Given the description of an element on the screen output the (x, y) to click on. 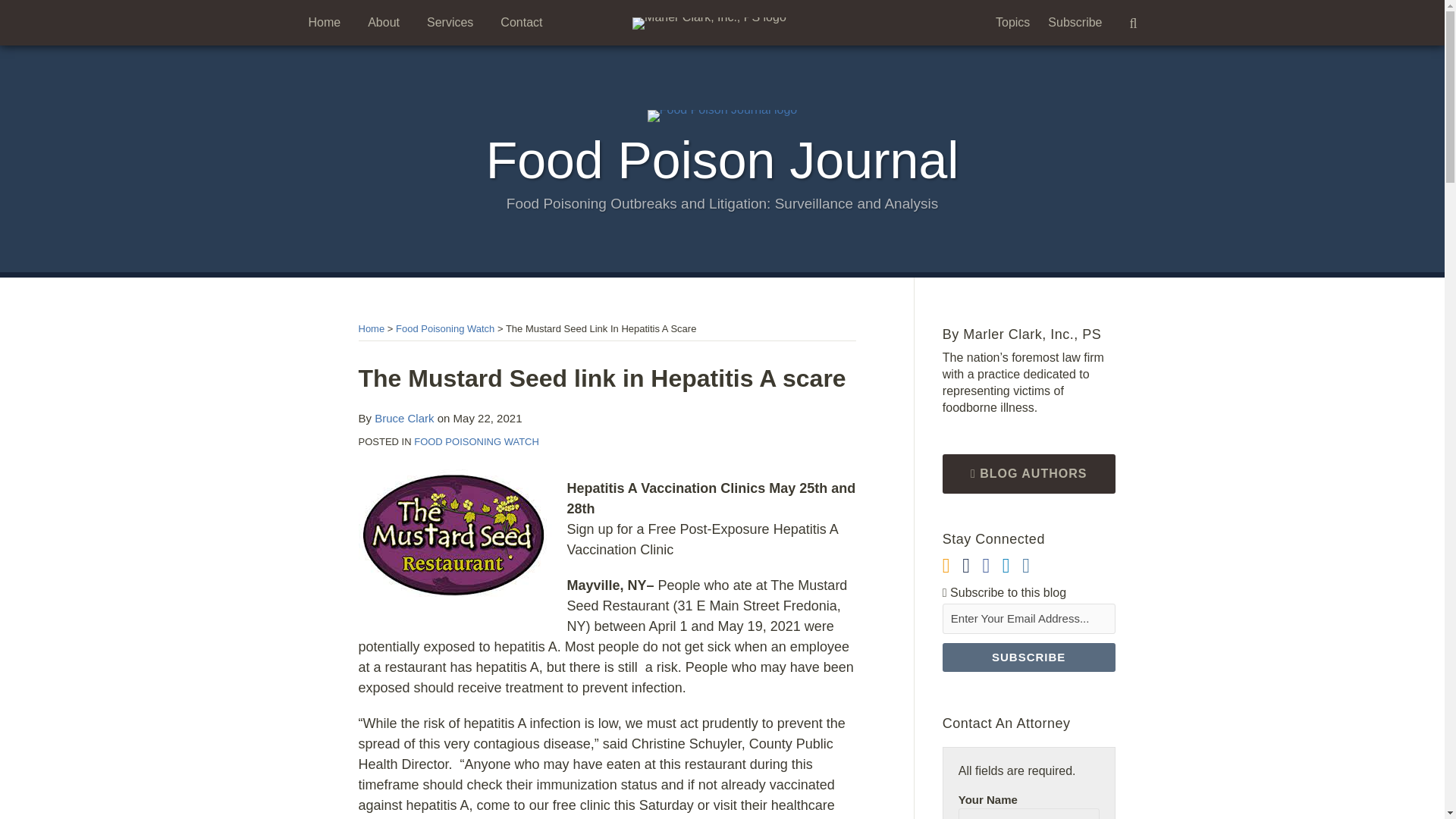
FOOD POISONING WATCH (475, 441)
Food Poison Journal (722, 160)
Services (449, 22)
Food Poisoning Watch (445, 328)
Home (323, 22)
Contact (520, 22)
Subscribe (1028, 656)
Bruce Clark (403, 418)
About (383, 22)
Topics (1012, 22)
Home (371, 328)
Subscribe (1075, 22)
